Given the description of an element on the screen output the (x, y) to click on. 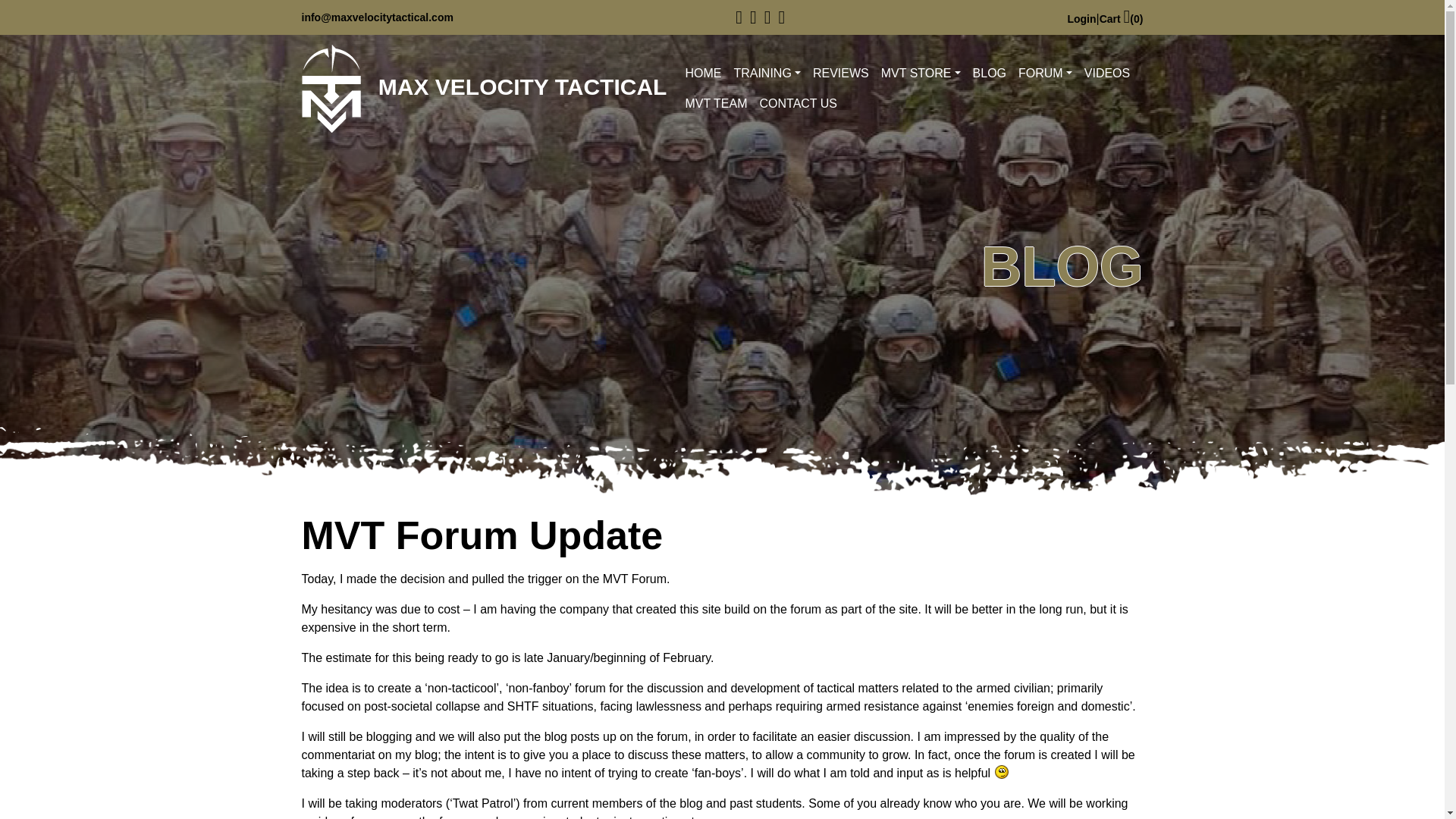
Training (766, 73)
MVT STORE (920, 73)
REVIEWS (840, 73)
Login (1081, 18)
CONTACT US (797, 103)
VIDEOS (1106, 73)
FORUM (1044, 73)
MVT TEAM (715, 103)
BLOG (988, 73)
Home (702, 73)
TRAINING (766, 73)
MAX VELOCITY TACTICAL (483, 88)
HOME (702, 73)
